Given the description of an element on the screen output the (x, y) to click on. 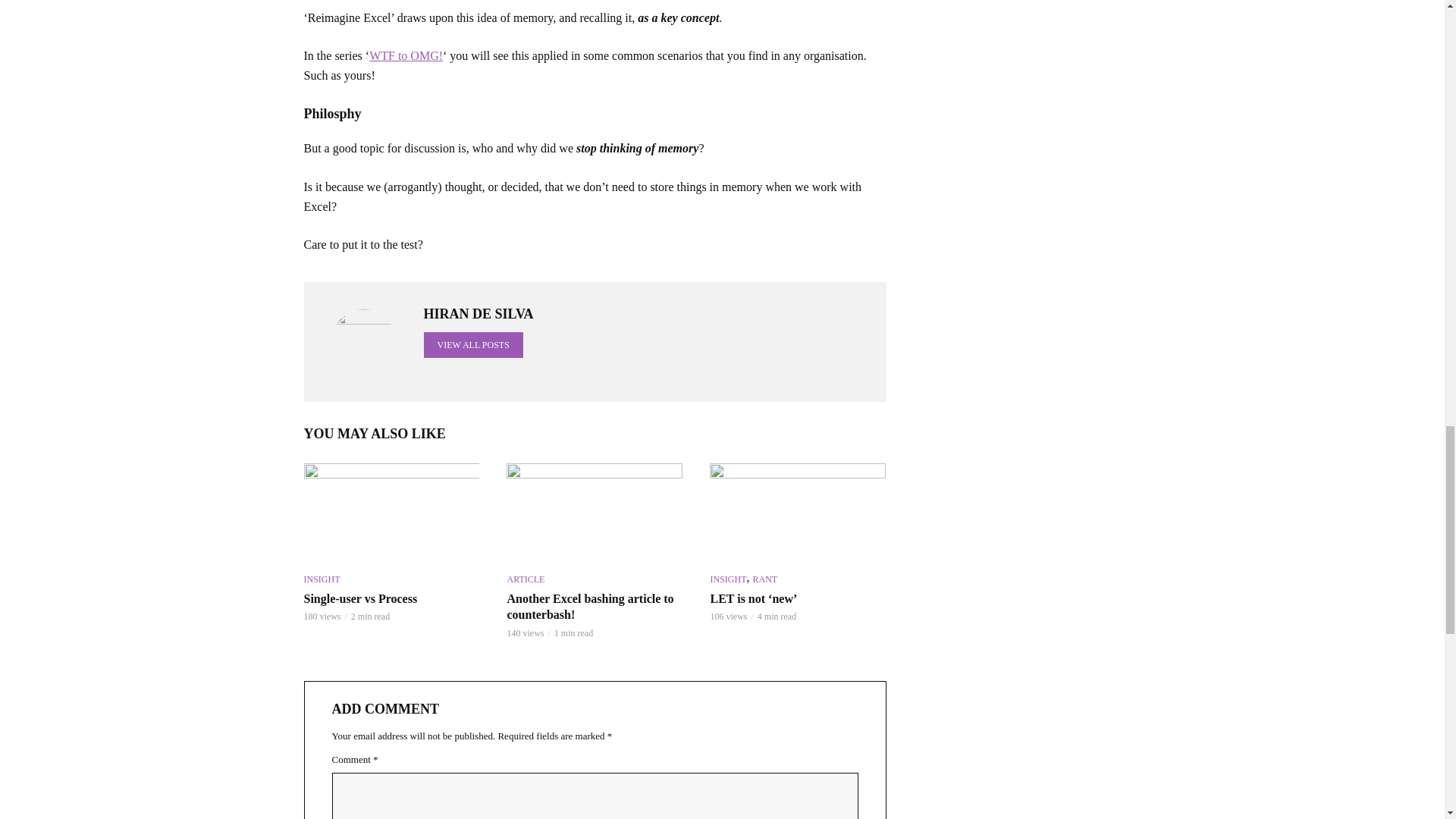
Another Excel bashing article to counterbash! (594, 512)
INSIGHT (320, 579)
Single-user vs Process (390, 598)
VIEW ALL POSTS (472, 344)
WTF to OMG! (405, 55)
Single-user vs Process (390, 512)
